Given the description of an element on the screen output the (x, y) to click on. 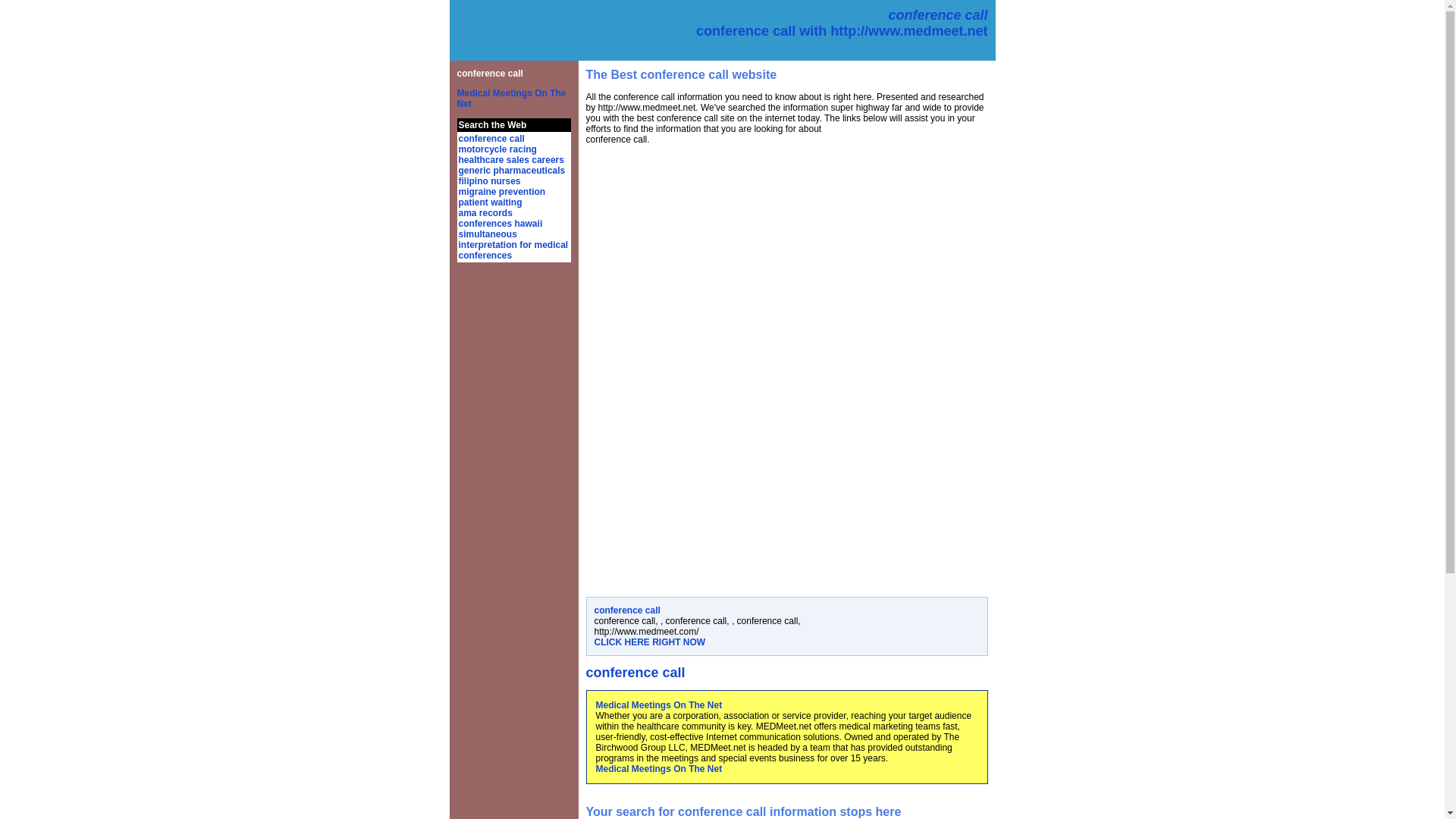
Medical Meetings On The Net (511, 97)
filipino nurses (488, 181)
patient waiting (489, 202)
Medical Meetings On The Net (658, 768)
conference call (491, 138)
CLICK HERE RIGHT NOW (650, 642)
generic pharmaceuticals (511, 170)
healthcare sales careers (510, 159)
migraine prevention (501, 191)
motorcycle racing (496, 149)
